Given the description of an element on the screen output the (x, y) to click on. 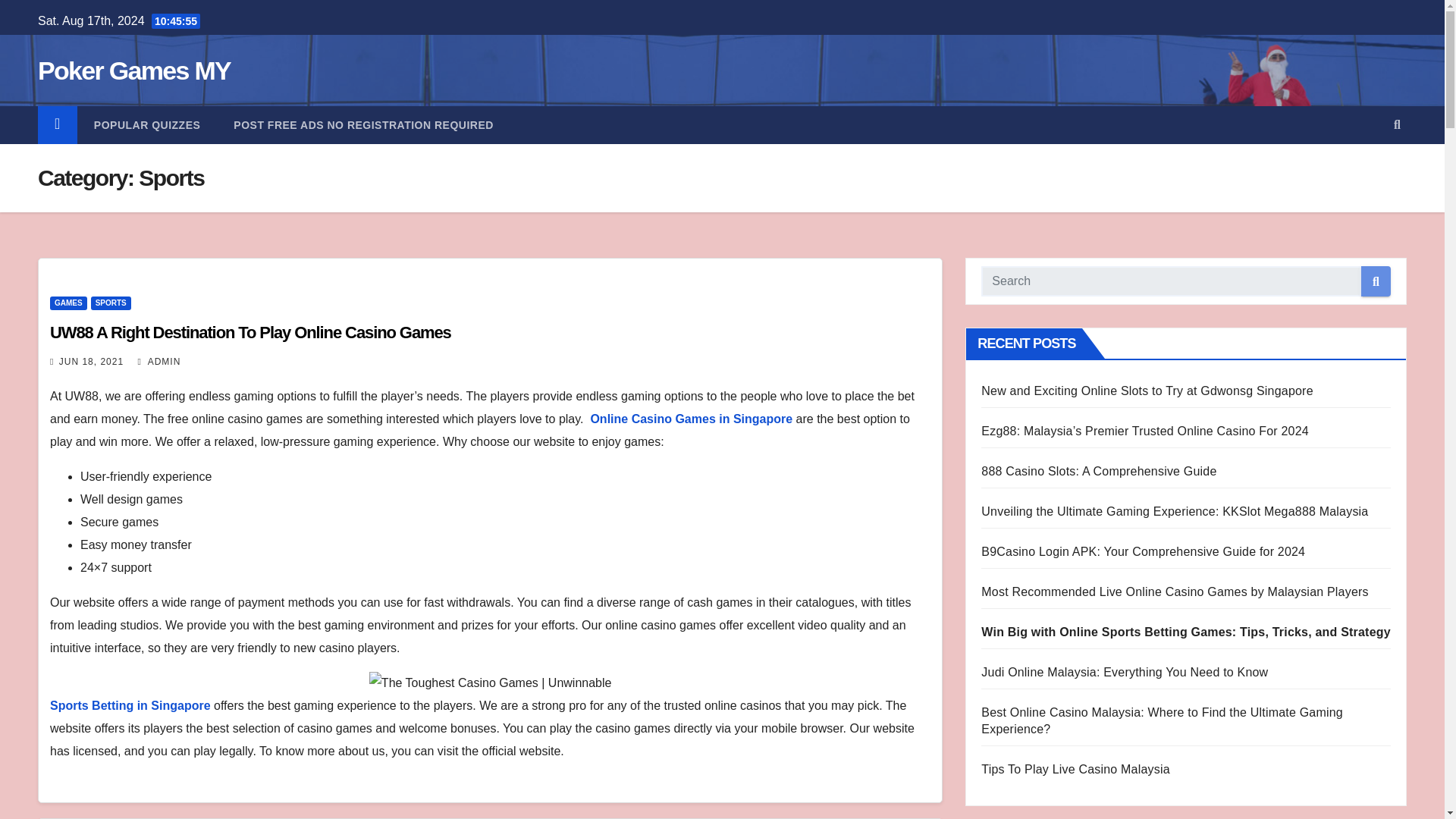
Sports Betting in Singapore (130, 705)
GAMES (68, 303)
Poker Games MY (133, 70)
POPULAR QUIZZES (146, 125)
SPORTS (110, 303)
UW88 A Right Destination To Play Online Casino Games (250, 332)
ADMIN (159, 361)
Popular Quizzes (146, 125)
JUN 18, 2021 (91, 361)
POST FREE ADS NO REGISTRATION REQUIRED (363, 125)
